Given the description of an element on the screen output the (x, y) to click on. 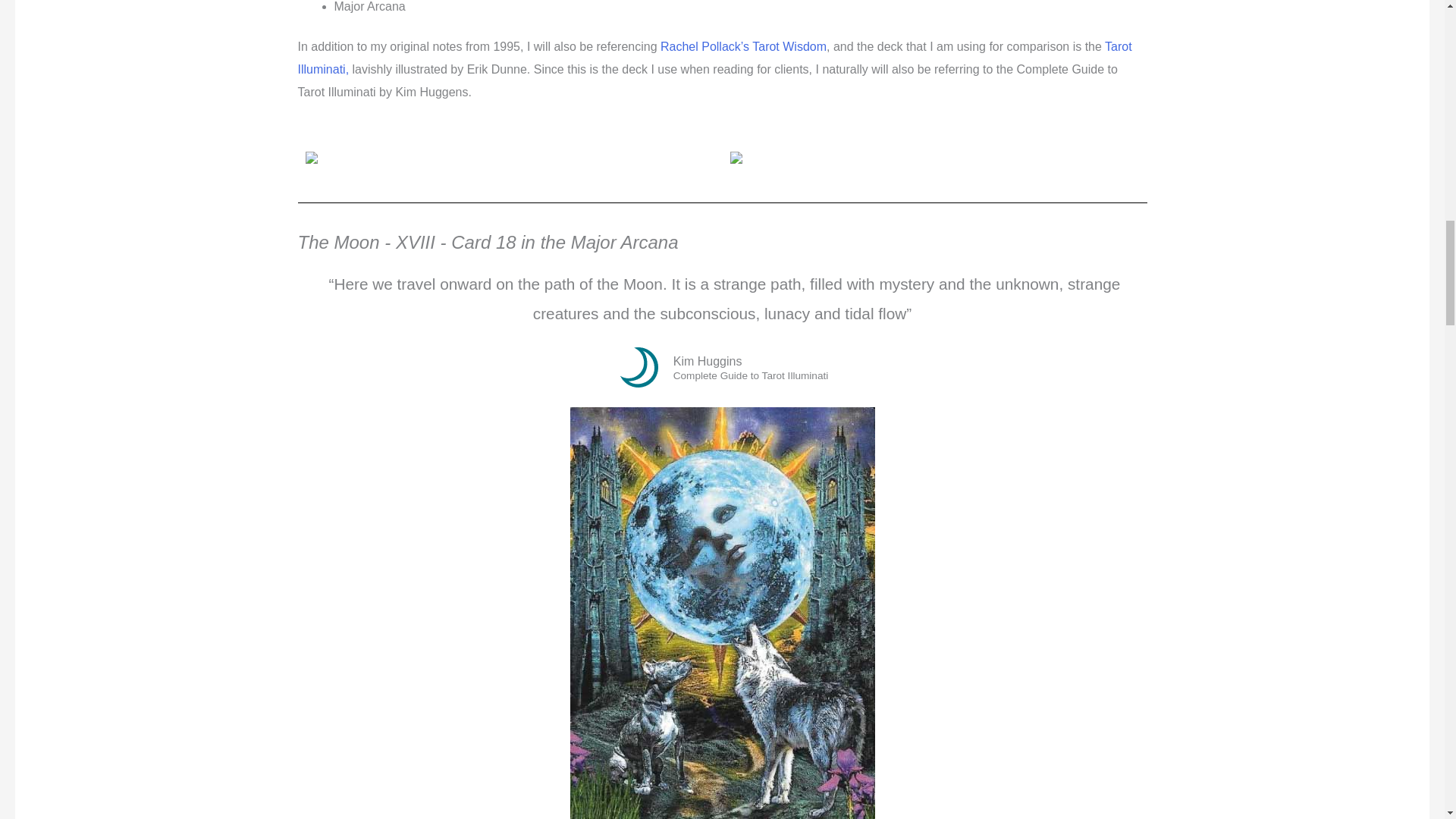
Tarot Illuminati, (714, 58)
